Given the description of an element on the screen output the (x, y) to click on. 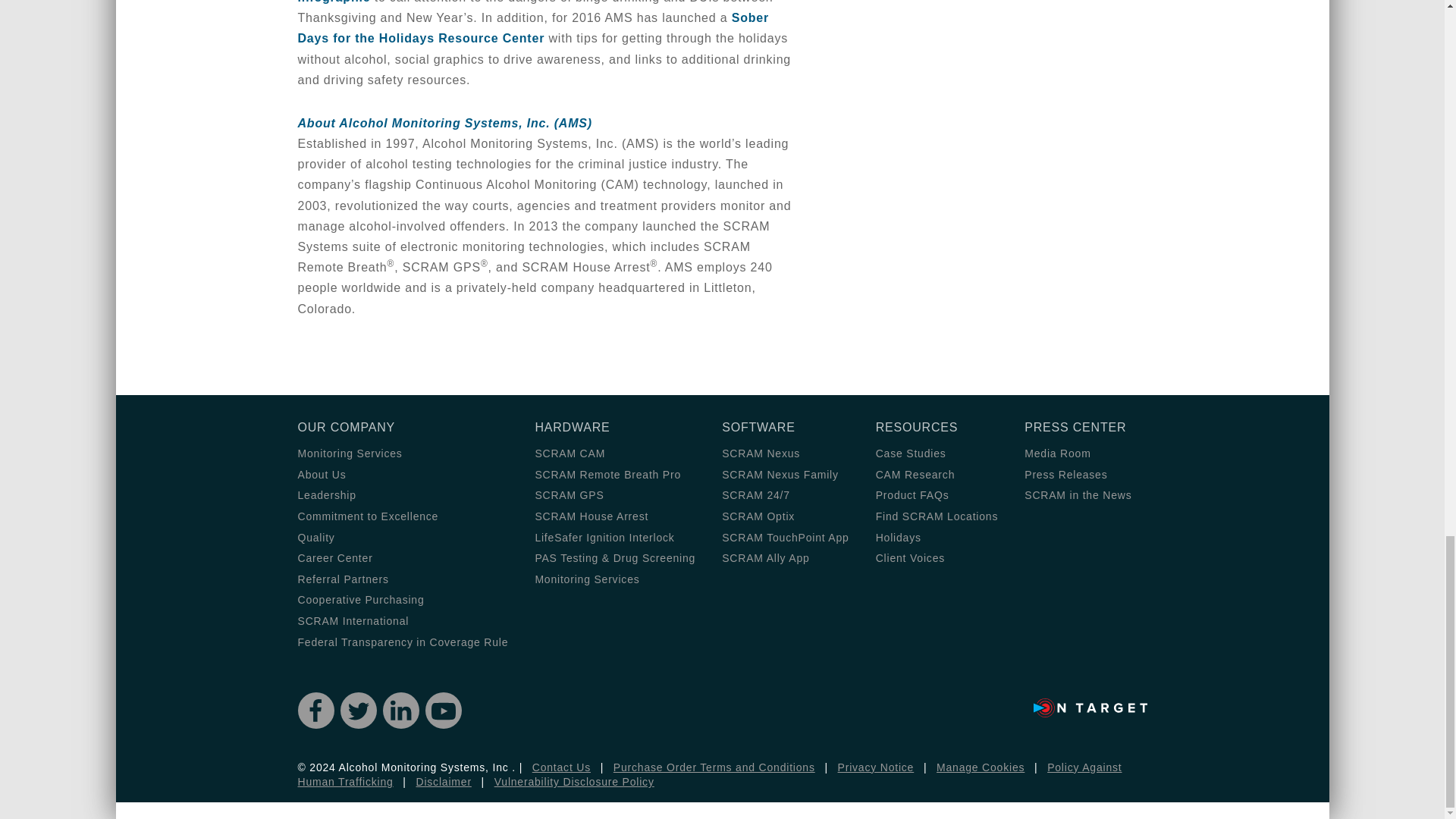
SCRAM Nexus (760, 453)
Commitment to Excellence (367, 516)
Referral Partners (342, 579)
Leadership (326, 494)
Quality (315, 537)
SCRAM House Arrest (590, 516)
About Us (321, 474)
Sober Days for the Holidays Resource Center (532, 28)
Cooperative Purchasing (360, 599)
SCRAM Remote Breath Pro (607, 474)
